Given the description of an element on the screen output the (x, y) to click on. 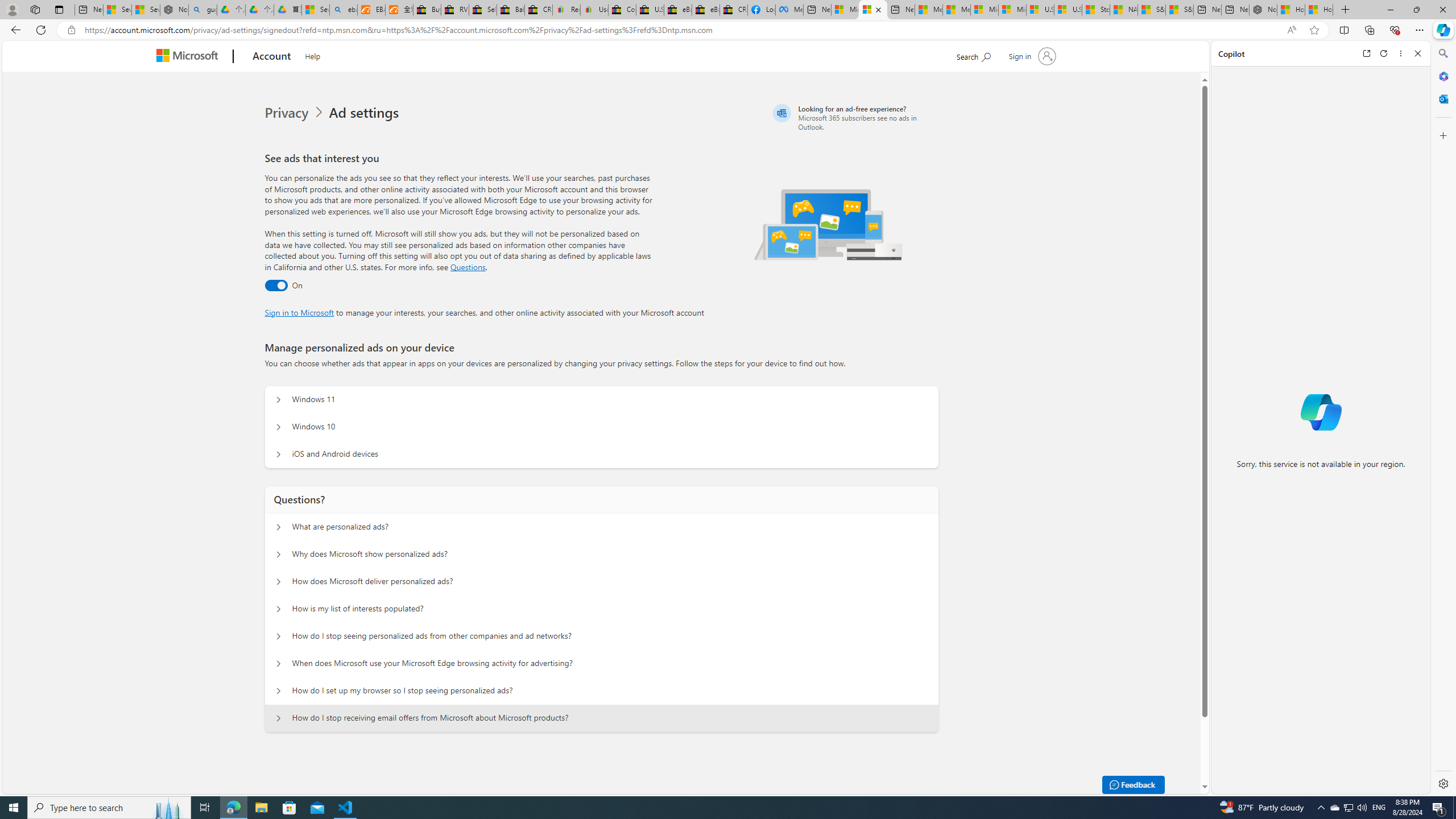
Help (312, 54)
Questions? How is my list of interests populated? (278, 608)
Manage personalized ads on your device Windows 11 (278, 400)
Register: Create a personal eBay account (566, 9)
Copilot (Ctrl+Shift+.) (1442, 29)
Meta Store (789, 9)
Side bar (1443, 418)
Split screen (1344, 29)
Microsoft (189, 56)
Manage personalized ads on your device Windows 10 (278, 427)
Open link in new tab (1366, 53)
Search Microsoft.com (972, 54)
Close tab (878, 9)
